Given the description of an element on the screen output the (x, y) to click on. 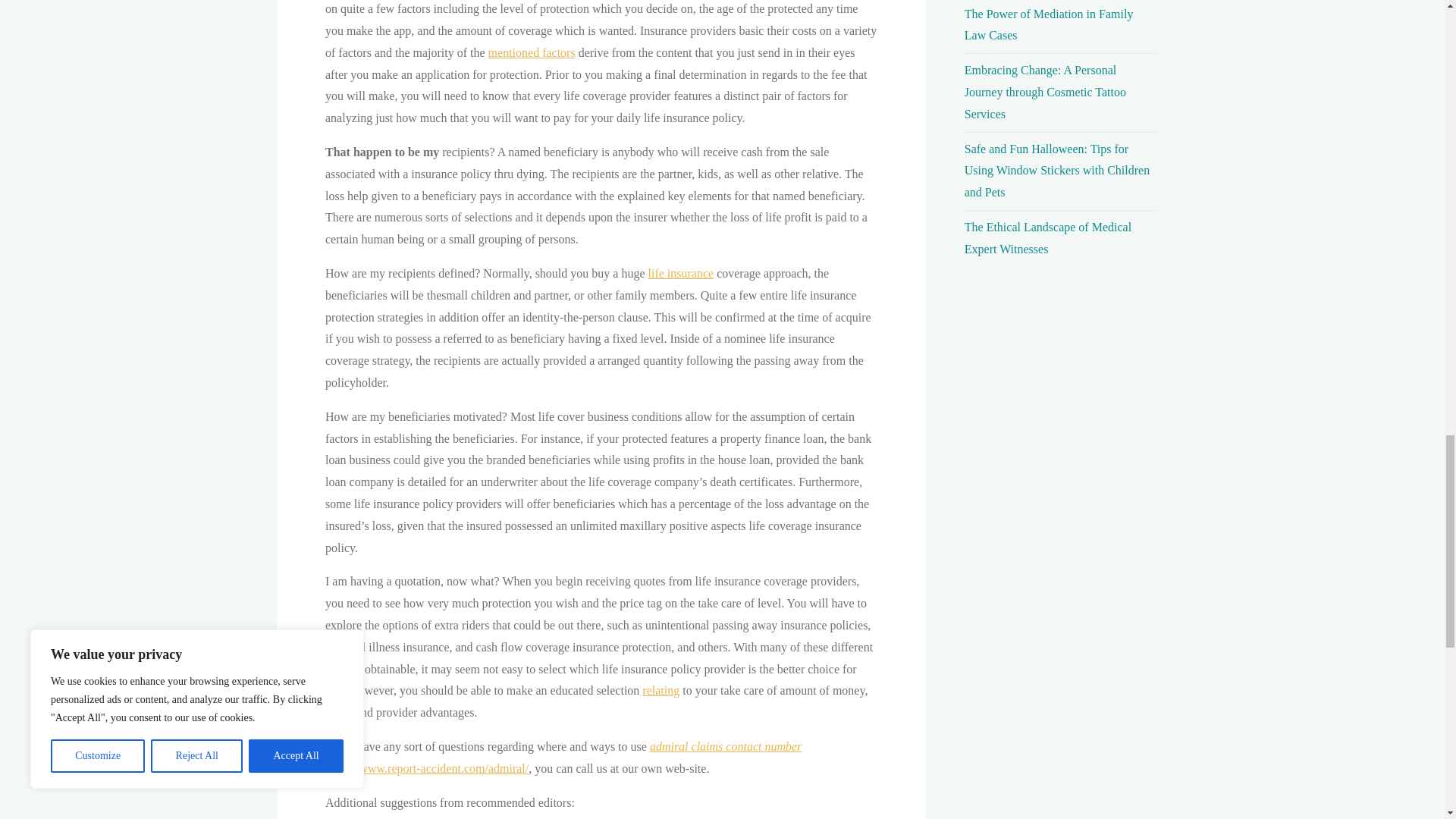
relating (660, 689)
mentioned factors (531, 51)
life insurance (680, 273)
